Given the description of an element on the screen output the (x, y) to click on. 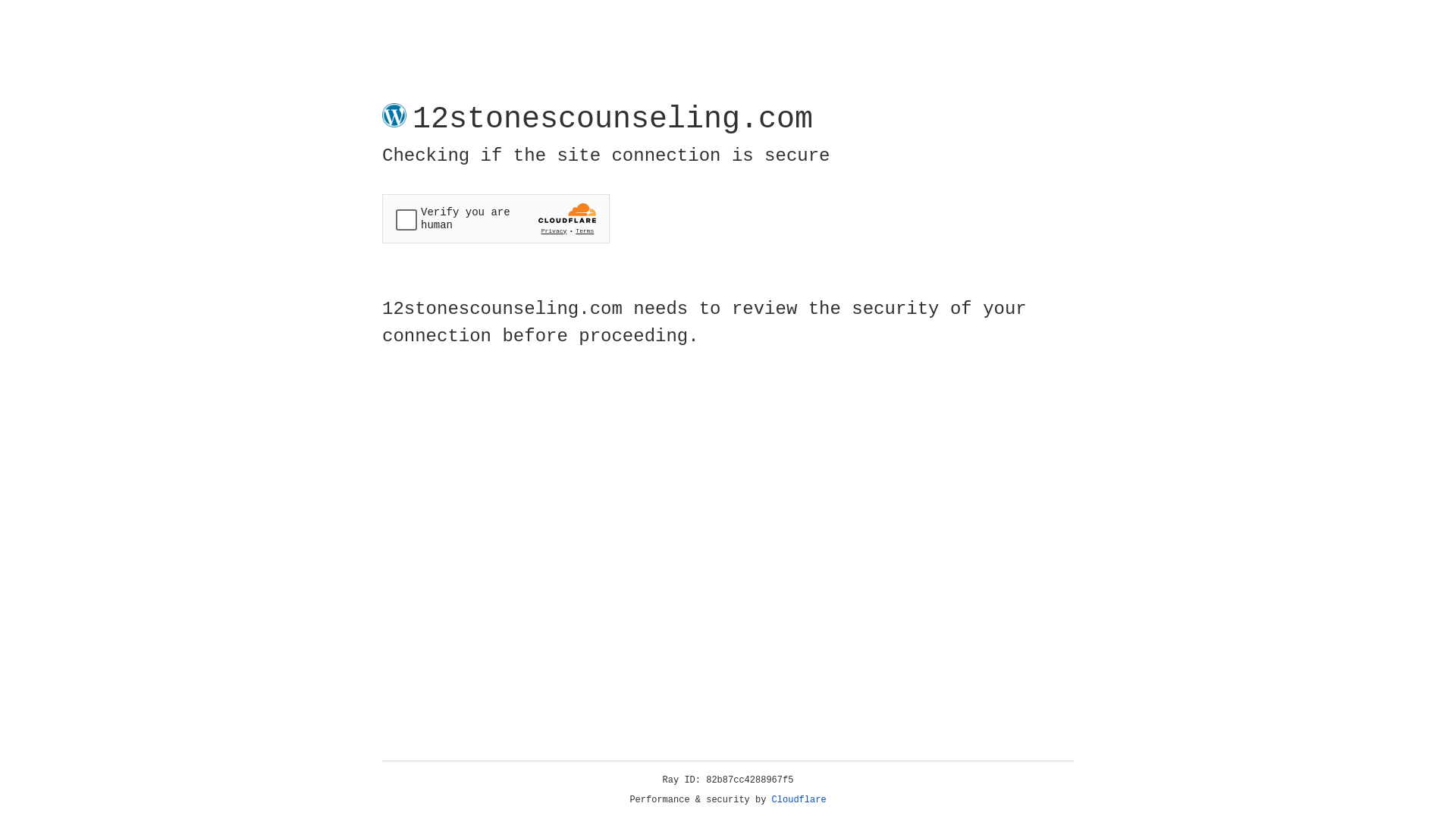
Cloudflare Element type: text (798, 799)
Widget containing a Cloudflare security challenge Element type: hover (495, 218)
